Given the description of an element on the screen output the (x, y) to click on. 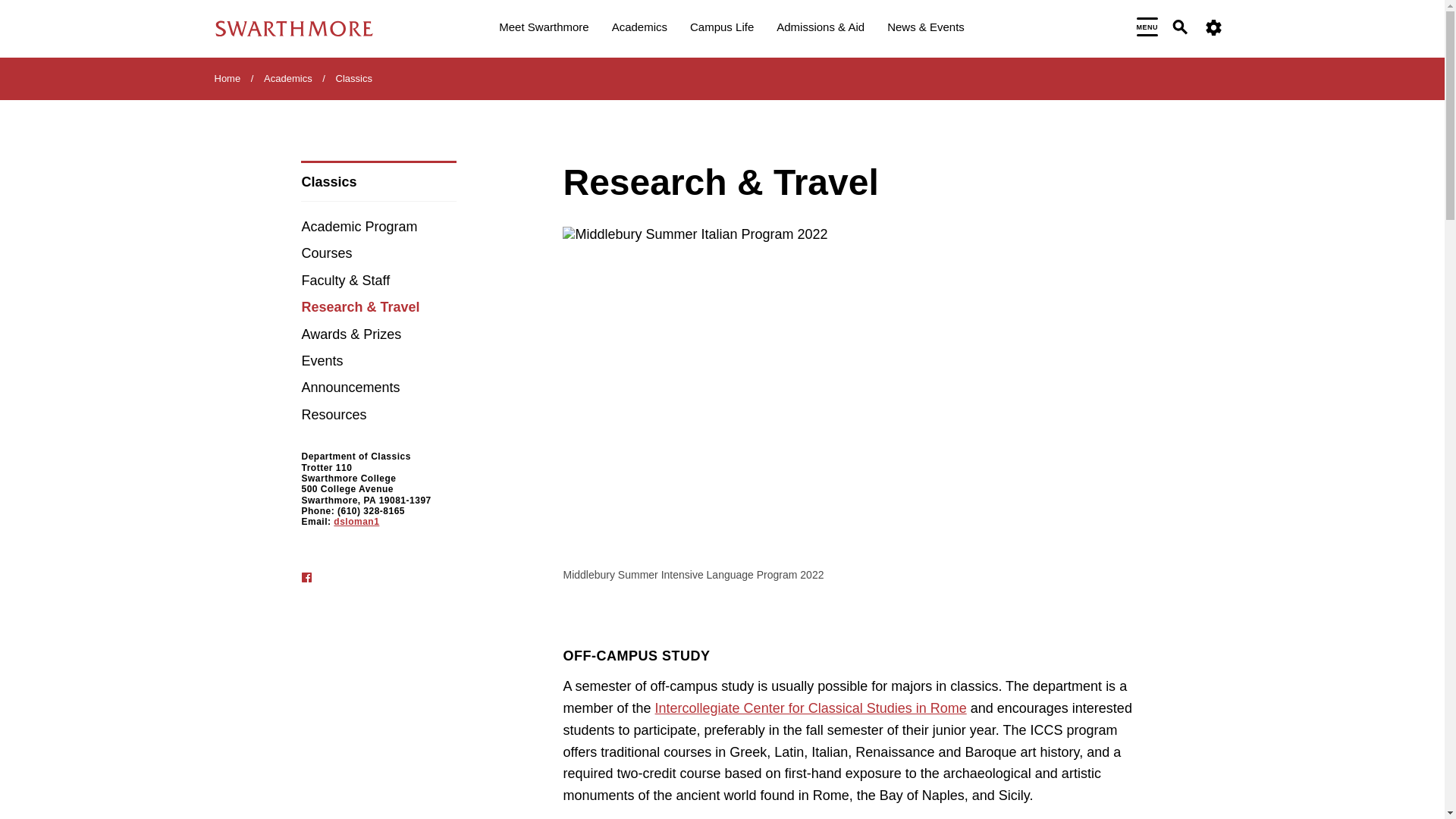
facebook (316, 578)
Academics (638, 28)
Facebook (307, 577)
Campus Life (722, 28)
Meet Swarthmore (543, 28)
